Given the description of an element on the screen output the (x, y) to click on. 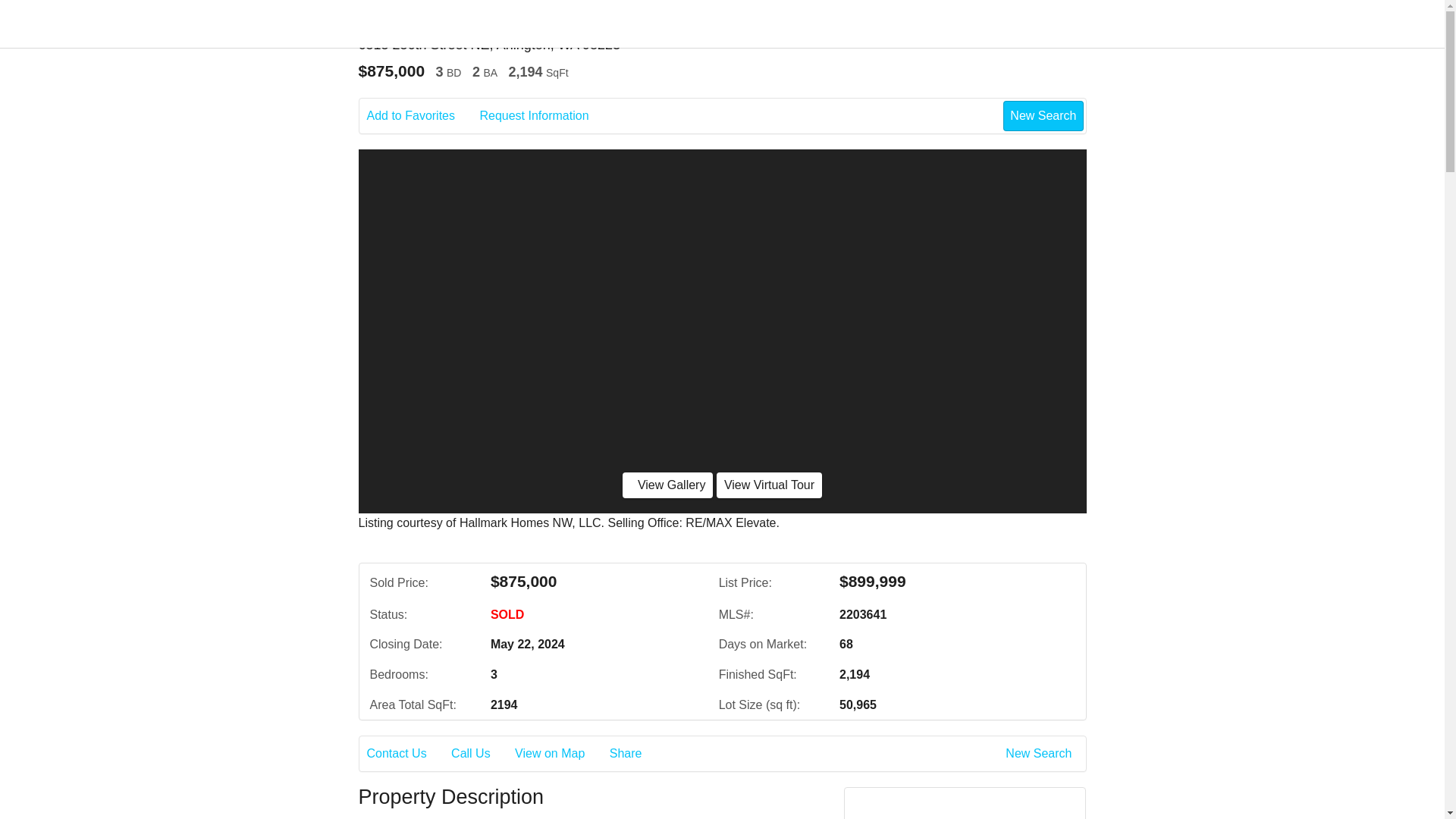
View Gallery (668, 484)
Share (636, 753)
View Gallery (668, 484)
View on Map (560, 753)
New Search (1043, 115)
New Search (1041, 753)
Call Us (481, 753)
View Virtual Tour (769, 484)
Contact Us (407, 753)
